Given the description of an element on the screen output the (x, y) to click on. 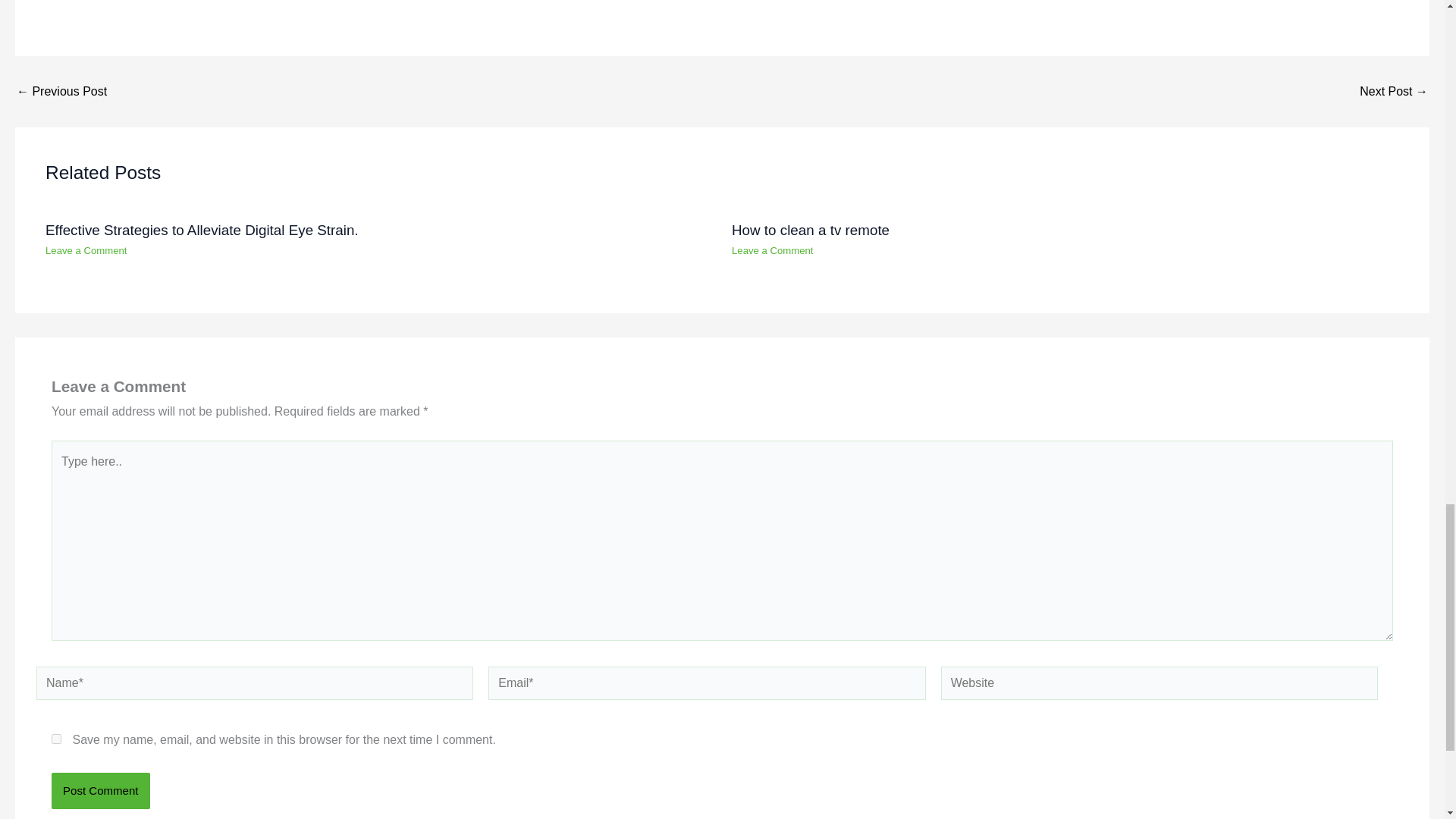
Leave a Comment (86, 250)
yes (55, 738)
Post Comment (99, 791)
Leave a Comment (772, 250)
Post Comment (99, 791)
How to clean a tv remote (1393, 91)
Effective Strategies to Alleviate Digital Eye Strain. (61, 91)
How to clean a tv remote (810, 229)
Effective Strategies to Alleviate Digital Eye Strain. (201, 229)
